Given the description of an element on the screen output the (x, y) to click on. 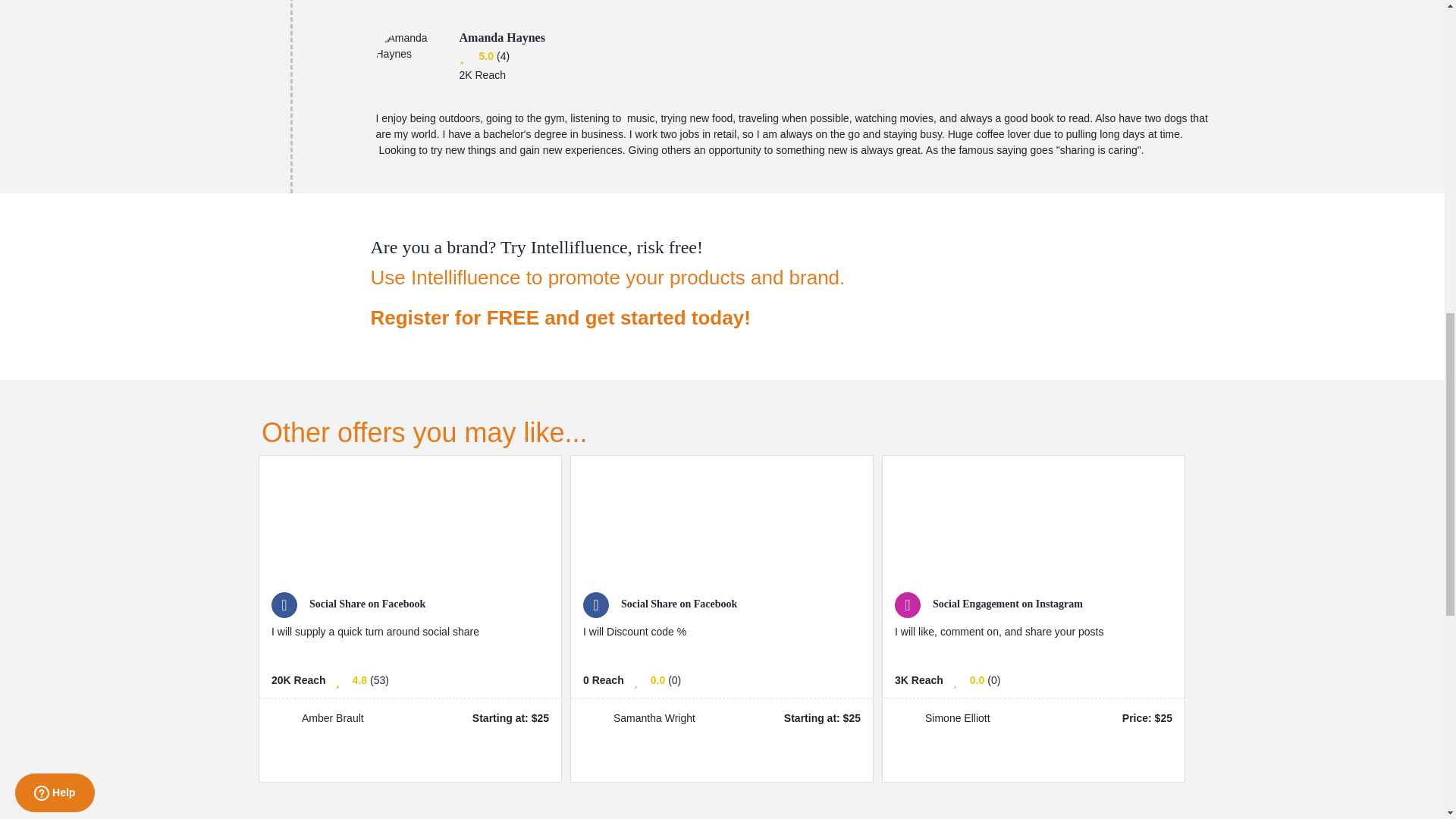
Register for FREE and get started today! (606, 318)
Star rating out of 5 (359, 680)
Star rating out of 5 (486, 56)
Number of reviews (378, 680)
Star rating out of 5 (976, 680)
Star rating out of 5 (657, 680)
